Given the description of an element on the screen output the (x, y) to click on. 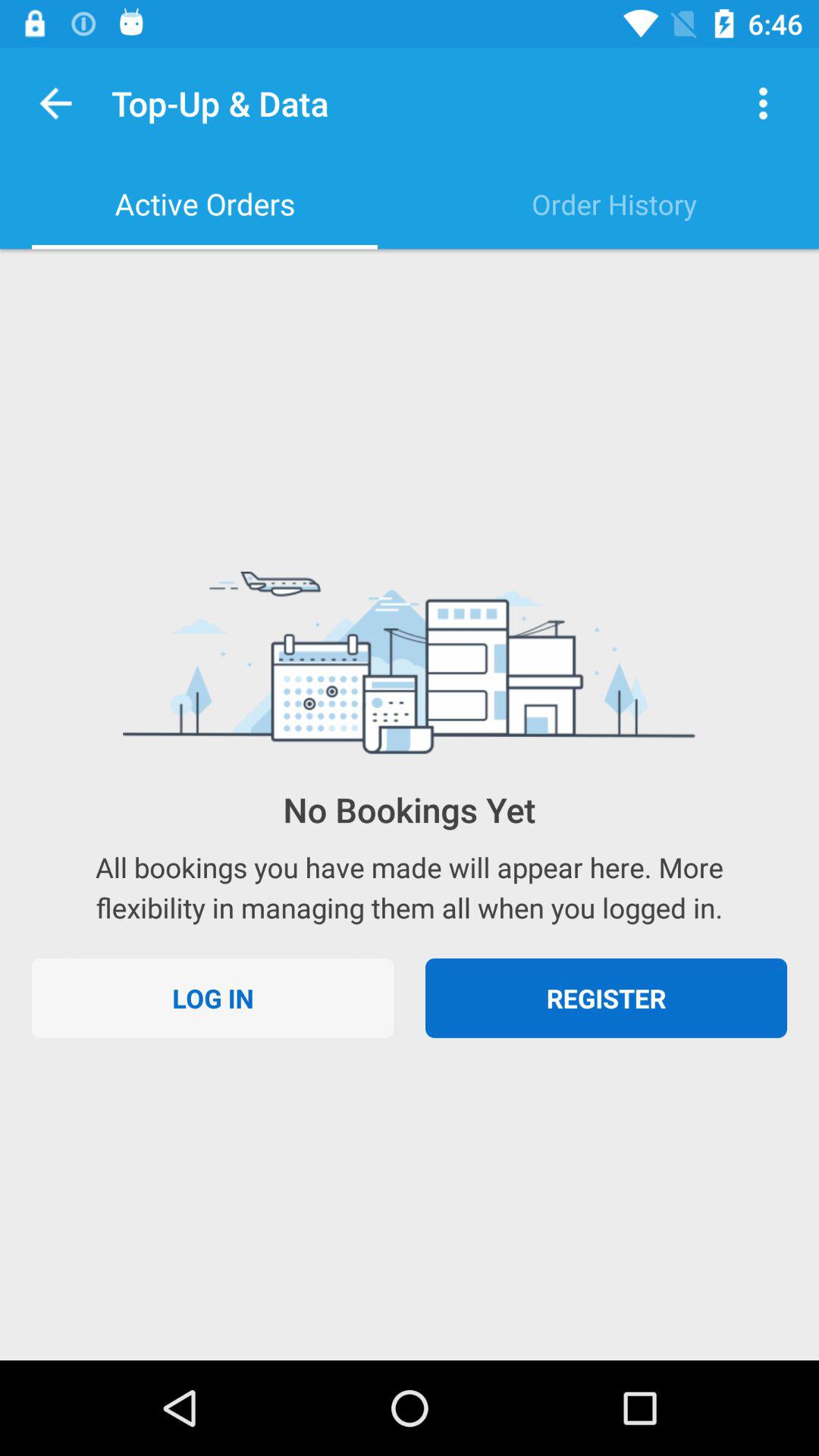
return to previous screen (55, 103)
